Given the description of an element on the screen output the (x, y) to click on. 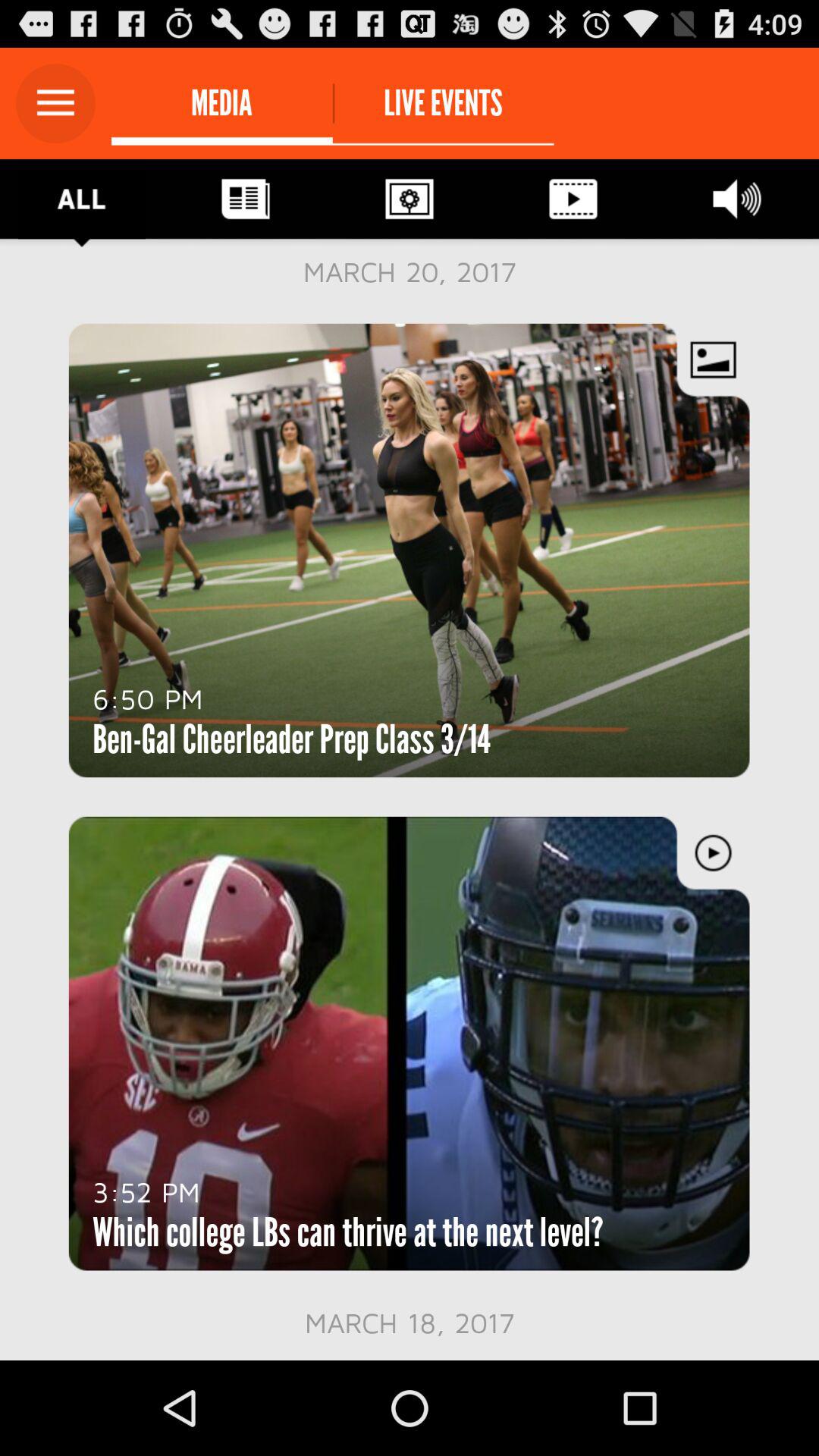
choose the which college lbs (347, 1232)
